Given the description of an element on the screen output the (x, y) to click on. 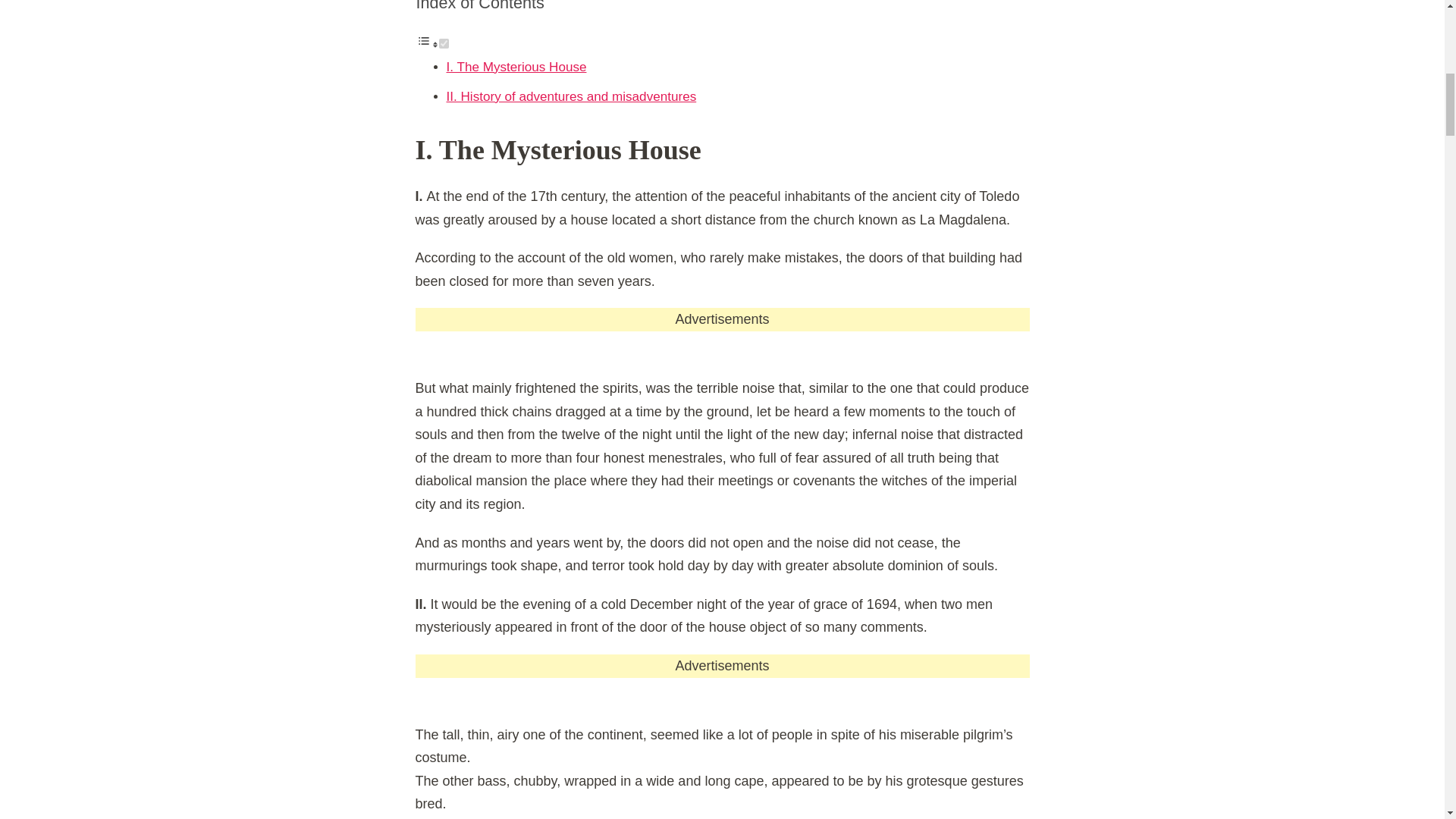
II. History of adventures and misadventures (570, 96)
I. The Mysterious House (515, 66)
II. History of adventures and misadventures (570, 96)
on (443, 43)
I. The Mysterious House (515, 66)
